Given the description of an element on the screen output the (x, y) to click on. 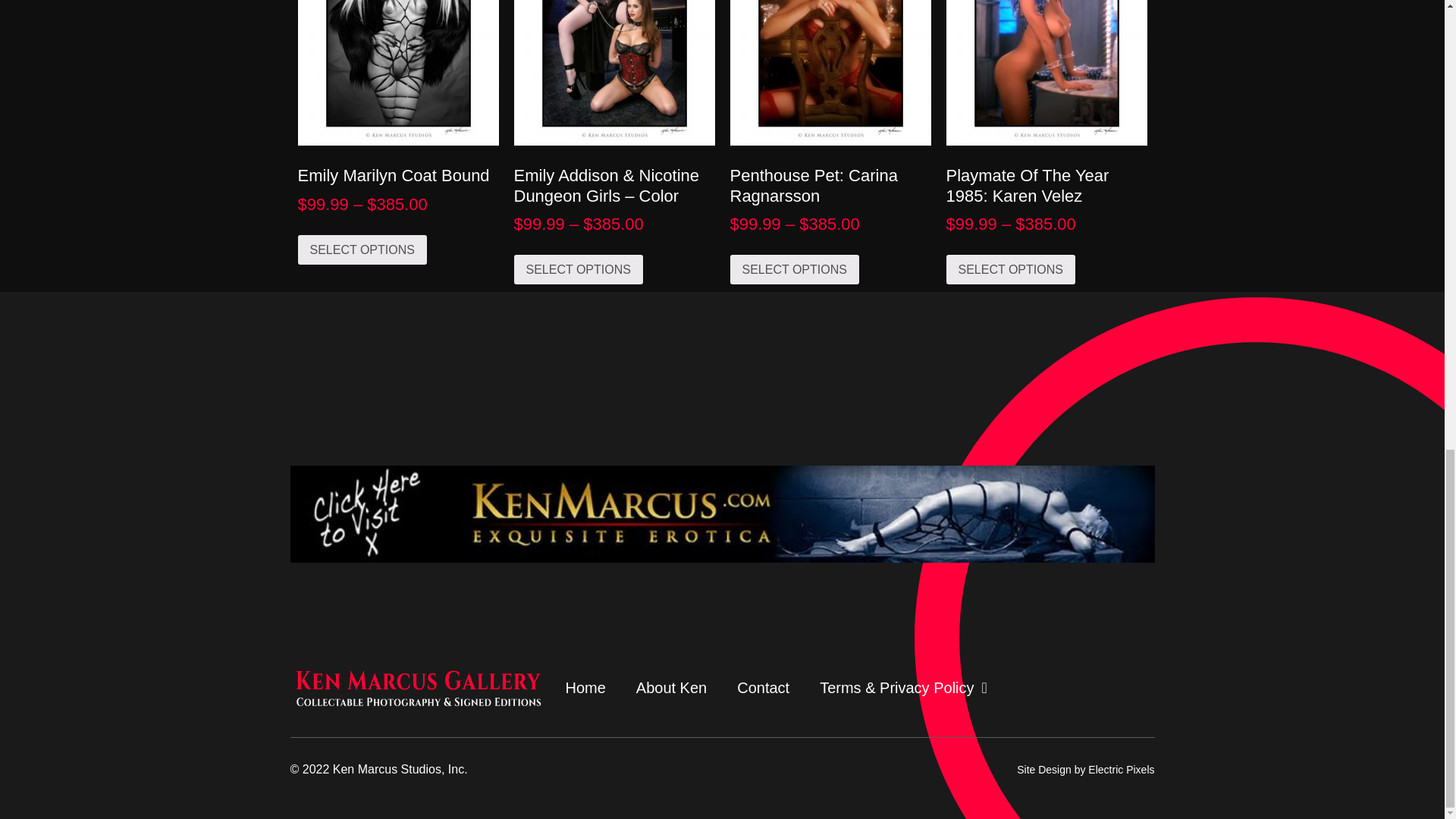
SELECT OPTIONS (794, 269)
SELECT OPTIONS (1010, 269)
About Ken (671, 687)
SELECT OPTIONS (361, 249)
SELECT OPTIONS (578, 269)
Home (585, 687)
Contact (763, 687)
